Given the description of an element on the screen output the (x, y) to click on. 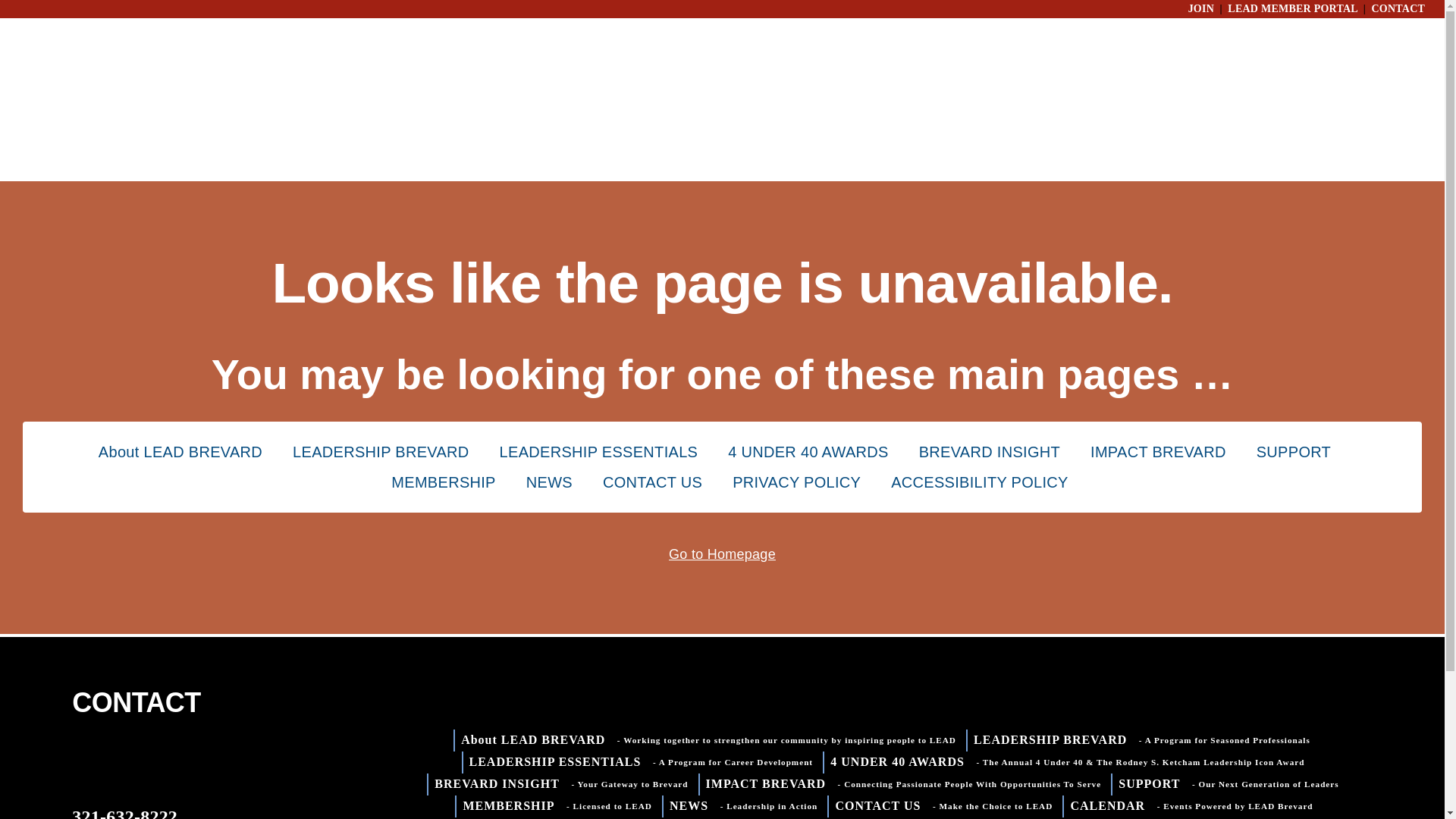
LEAD-BREVARD-reversed-Logo (147, 762)
LEAD MEMBER PORTAL (1291, 8)
JOIN (1201, 8)
CONTACT (1398, 8)
